Given the description of an element on the screen output the (x, y) to click on. 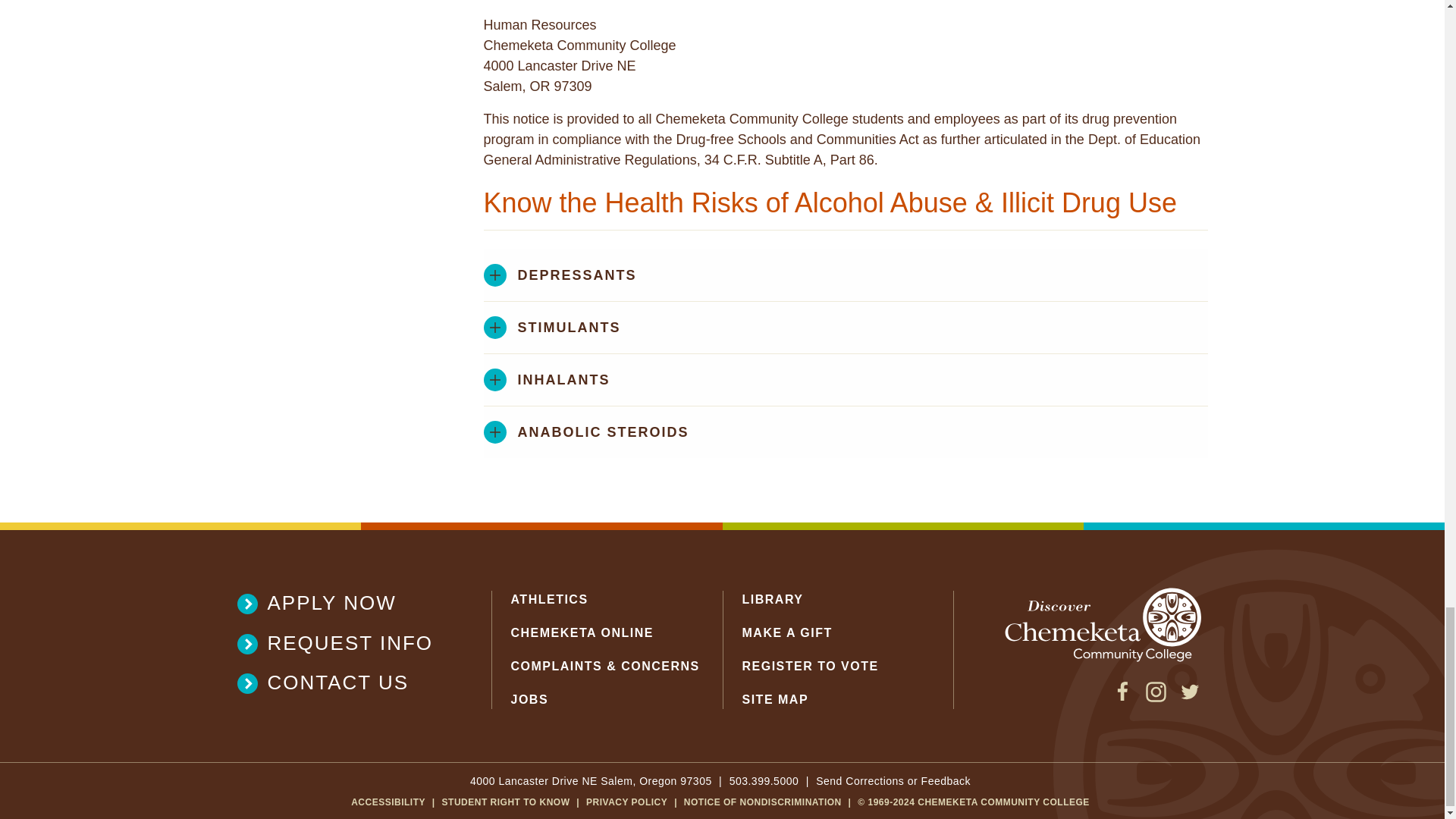
Request Info (343, 643)
Facebook (1122, 697)
Twitter (1189, 697)
Apply Now (343, 602)
Instagram (1155, 697)
Contact Us (343, 682)
